Given the description of an element on the screen output the (x, y) to click on. 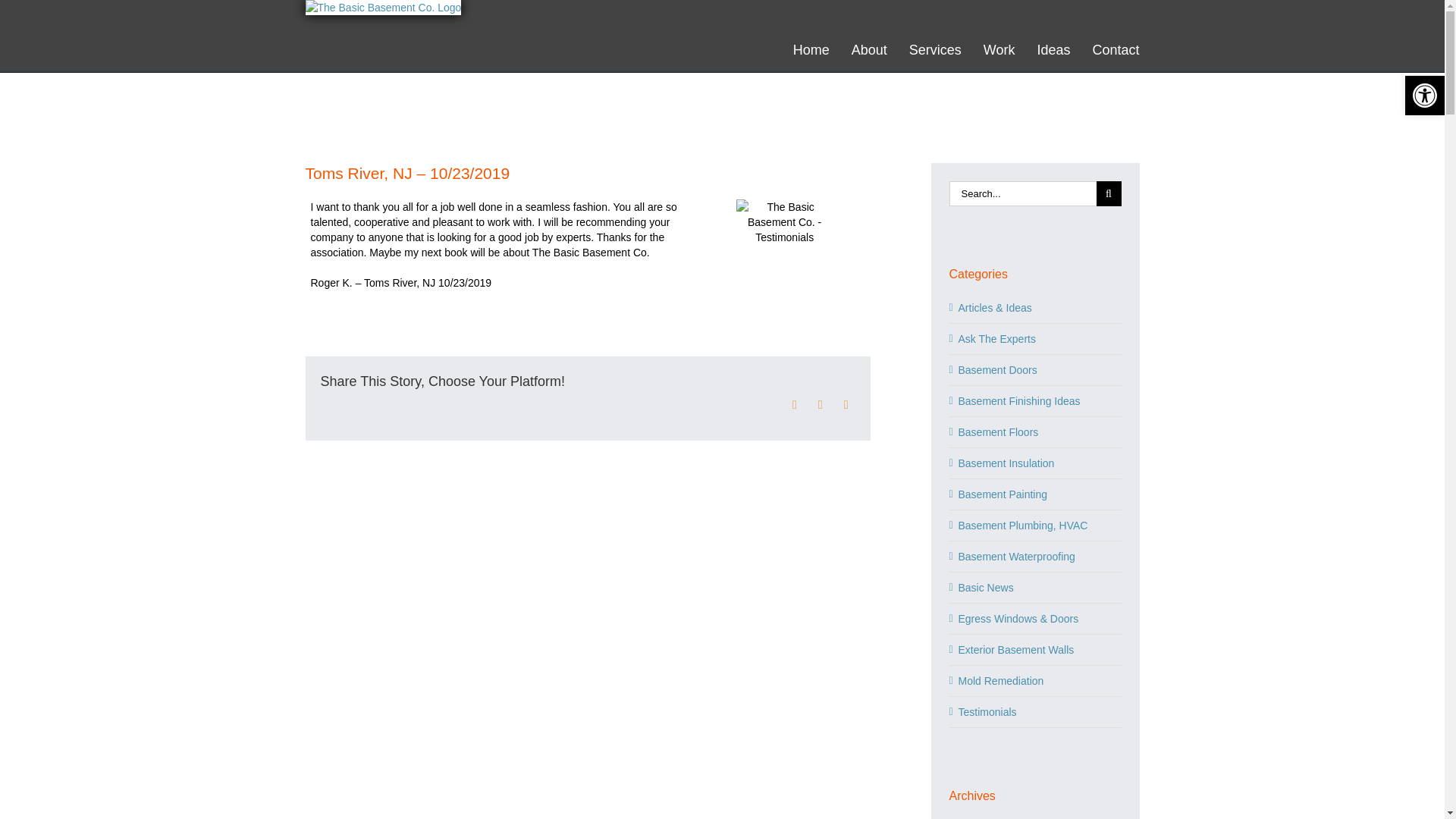
Basement Floors (1035, 432)
Basement Insulation (1035, 462)
Ask The Experts (1035, 338)
Basement Finishing Ideas (1035, 400)
Accessibility Tools (1424, 95)
Basement Waterproofing (1035, 556)
Basement Plumbing, HVAC (1035, 525)
Basement Doors (1035, 369)
Basement Painting (1035, 494)
